Given the description of an element on the screen output the (x, y) to click on. 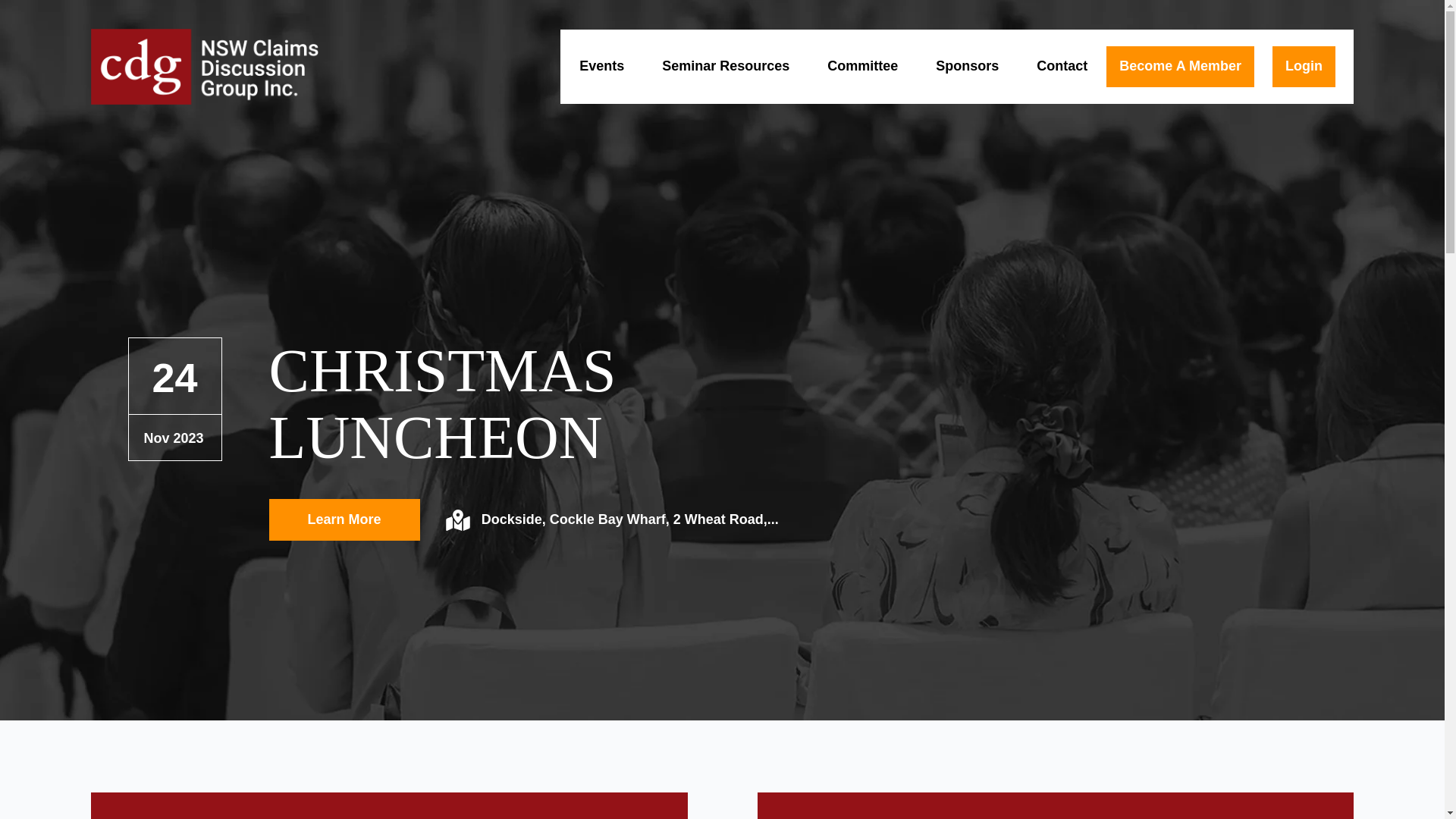
Seminar Resources Element type: text (725, 66)
Login Element type: text (1303, 66)
Sponsors Element type: text (966, 66)
Learn More Element type: text (344, 519)
Committee Element type: text (862, 66)
Contact Element type: text (1061, 66)
Become A Member Element type: text (1180, 66)
Events Element type: text (601, 66)
